Given the description of an element on the screen output the (x, y) to click on. 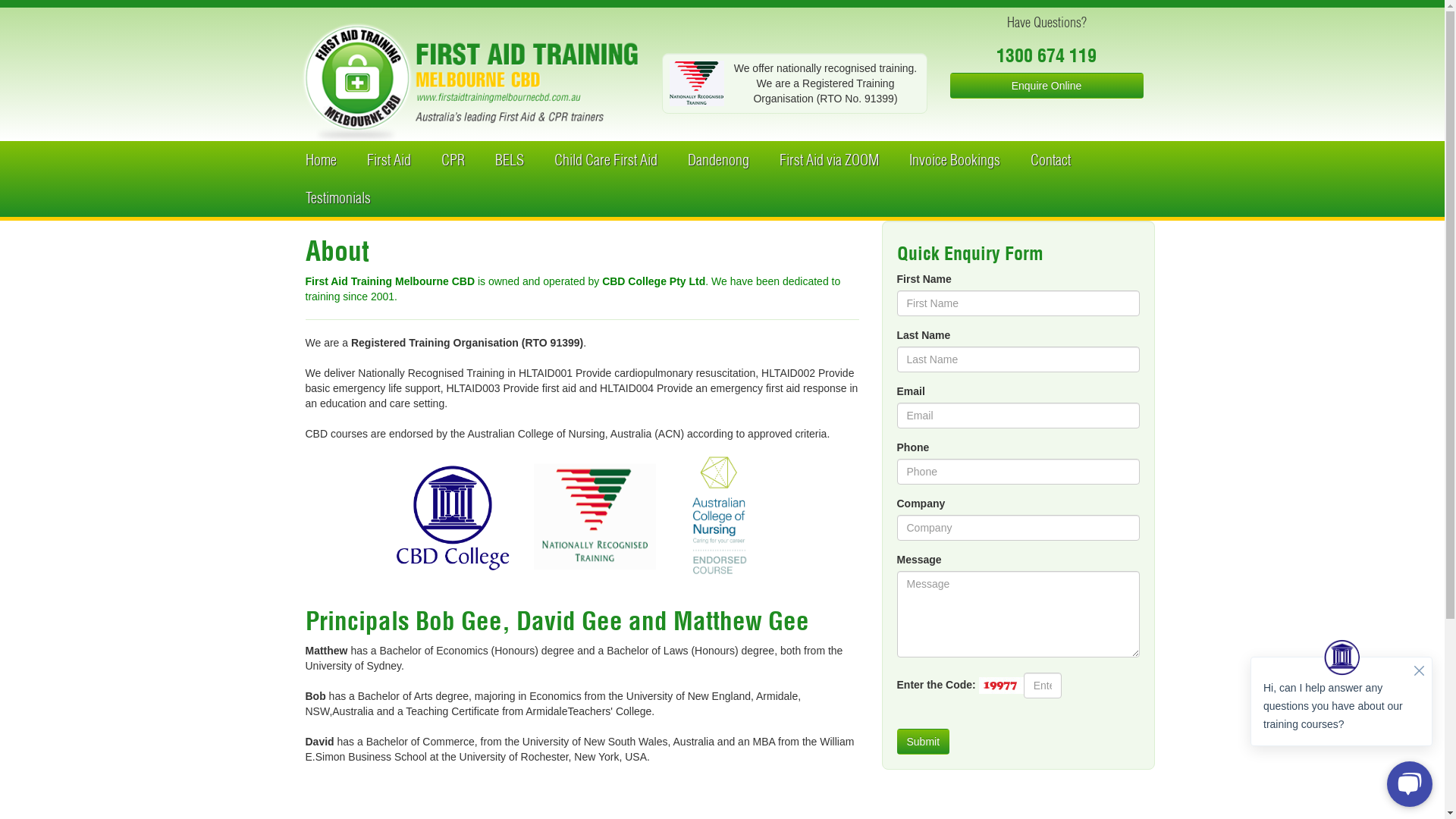
Nationally Recognized Training Element type: hover (695, 83)
Enquire Online Element type: text (1045, 85)
Child Care First Aid Element type: text (604, 159)
Dandenong Element type: text (717, 159)
First AID CBD College Australia Element type: hover (470, 81)
BELS Element type: text (508, 159)
Invoice Bookings Element type: text (953, 159)
Contact Element type: text (1049, 159)
First Aid Element type: text (388, 159)
1300 674 119 Element type: text (1046, 54)
Testimonials Element type: text (337, 197)
First Aid via ZOOM Element type: text (829, 159)
Home Element type: text (320, 159)
CPR Element type: text (453, 159)
Submit Element type: text (922, 741)
